Given the description of an element on the screen output the (x, y) to click on. 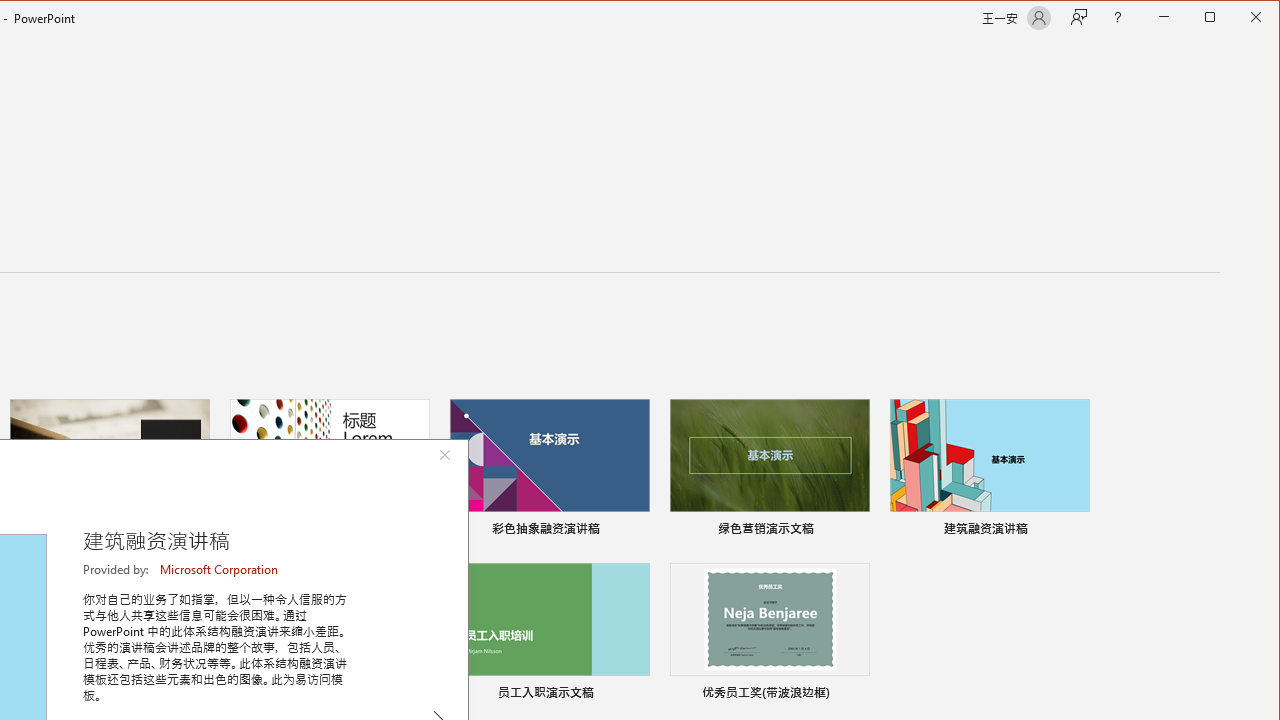
Maximize (1238, 18)
Pin to list (856, 695)
Microsoft Corporation (220, 569)
